Given the description of an element on the screen output the (x, y) to click on. 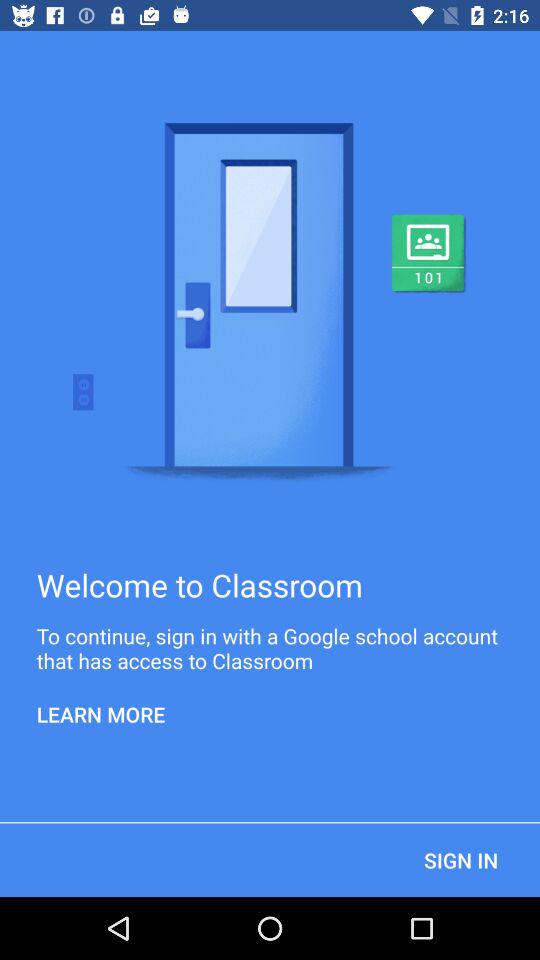
open the icon at the bottom left corner (101, 713)
